Given the description of an element on the screen output the (x, y) to click on. 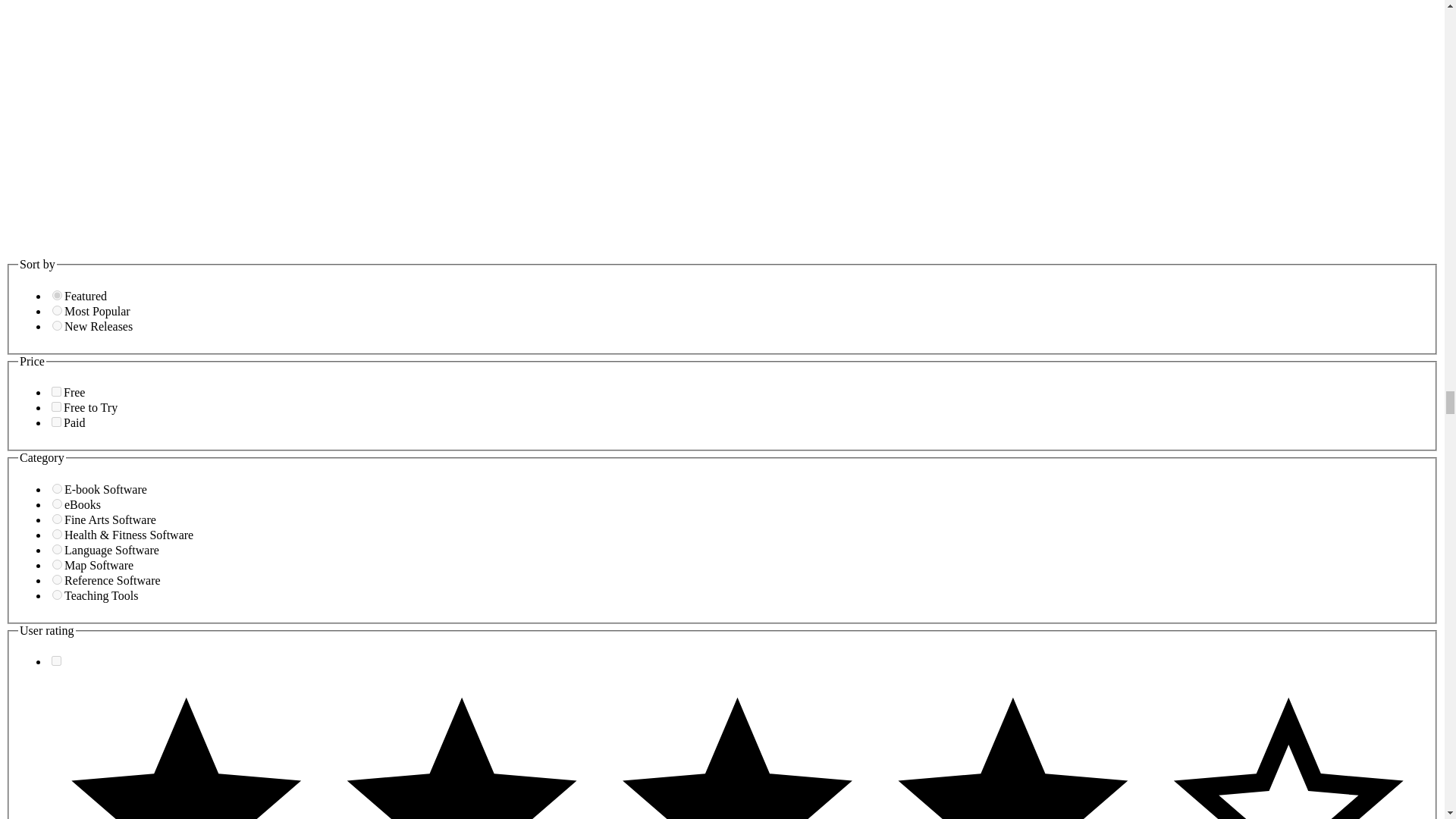
education-fine-arts (57, 519)
paid (55, 421)
health-fitness-software (57, 533)
featured (57, 295)
free (55, 391)
map-software (57, 564)
mostPopular (57, 310)
freeToTry (55, 406)
education-ebooks-reader-manager (57, 503)
e-book-software (57, 488)
